Given the description of an element on the screen output the (x, y) to click on. 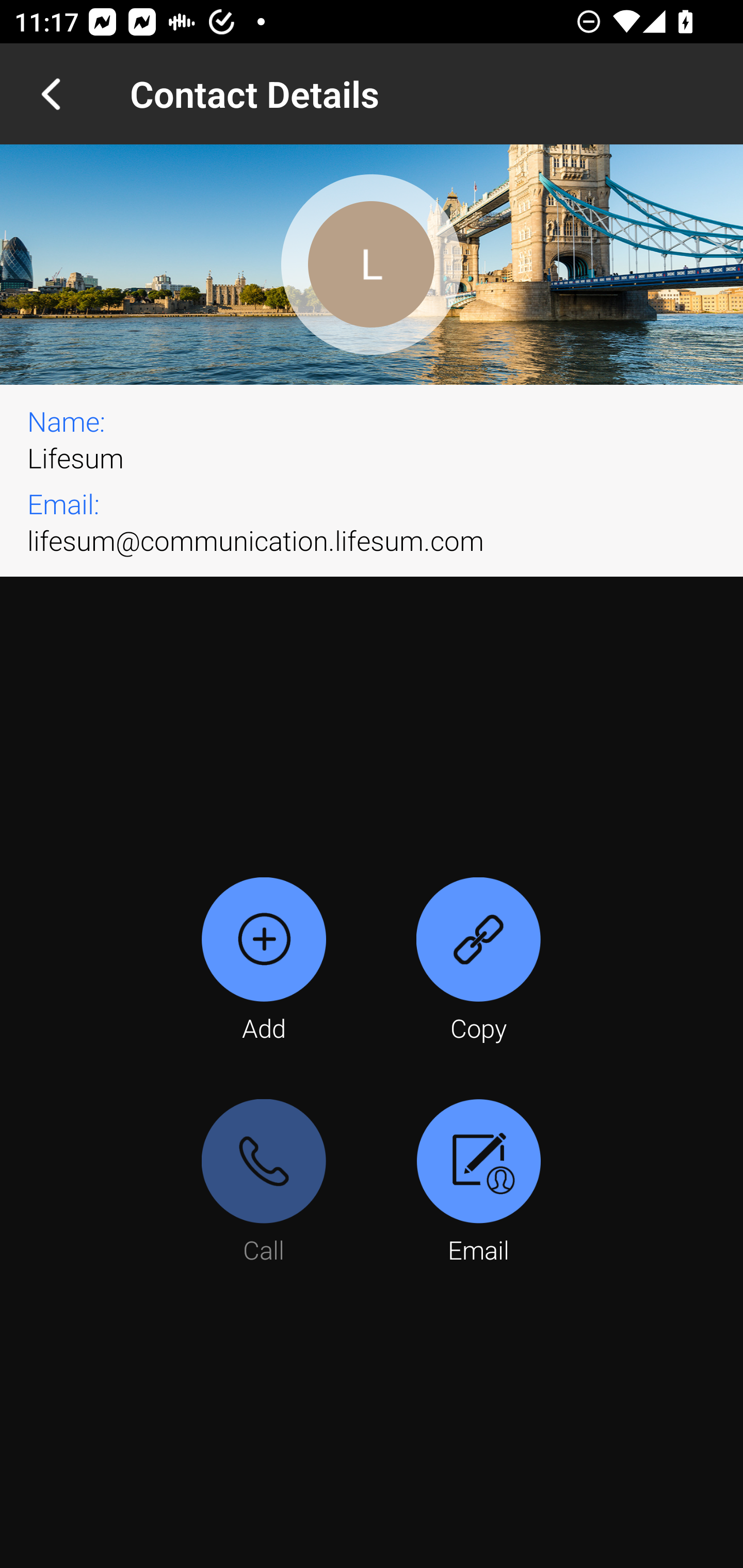
Navigate up (50, 93)
Add (264, 961)
Copy (478, 961)
Call (264, 1182)
Email (478, 1182)
